Given the description of an element on the screen output the (x, y) to click on. 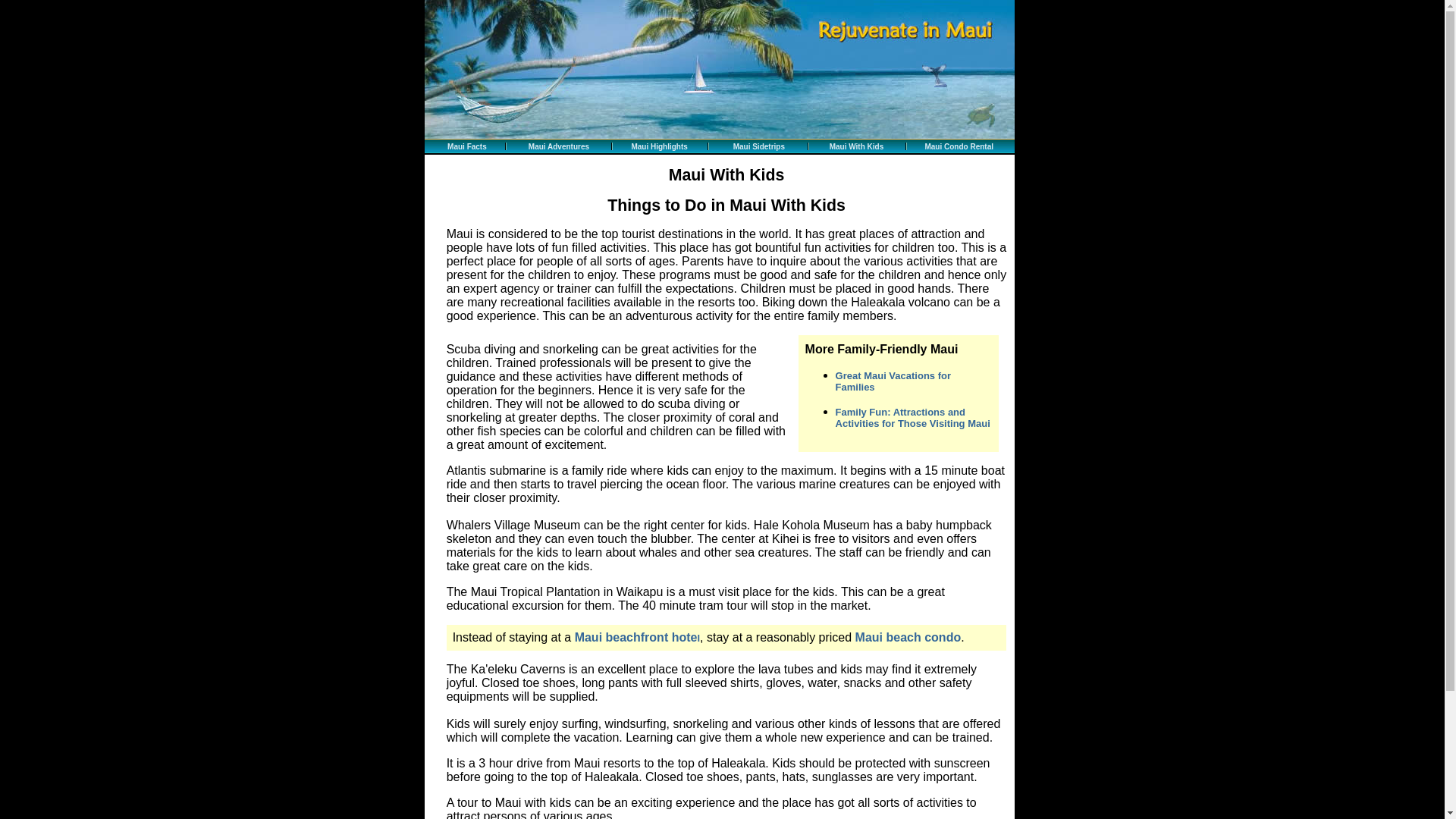
Maui Sidetrips (758, 146)
Maui Highlights (658, 146)
Maui Facts (466, 146)
Great Maui Vacations for Families  (892, 381)
Maui With Kids (856, 146)
Maui Adventures (558, 146)
Maui beachfront hotel (637, 637)
Maui Condo Rental (958, 146)
Maui beach condo (908, 637)
